Given the description of an element on the screen output the (x, y) to click on. 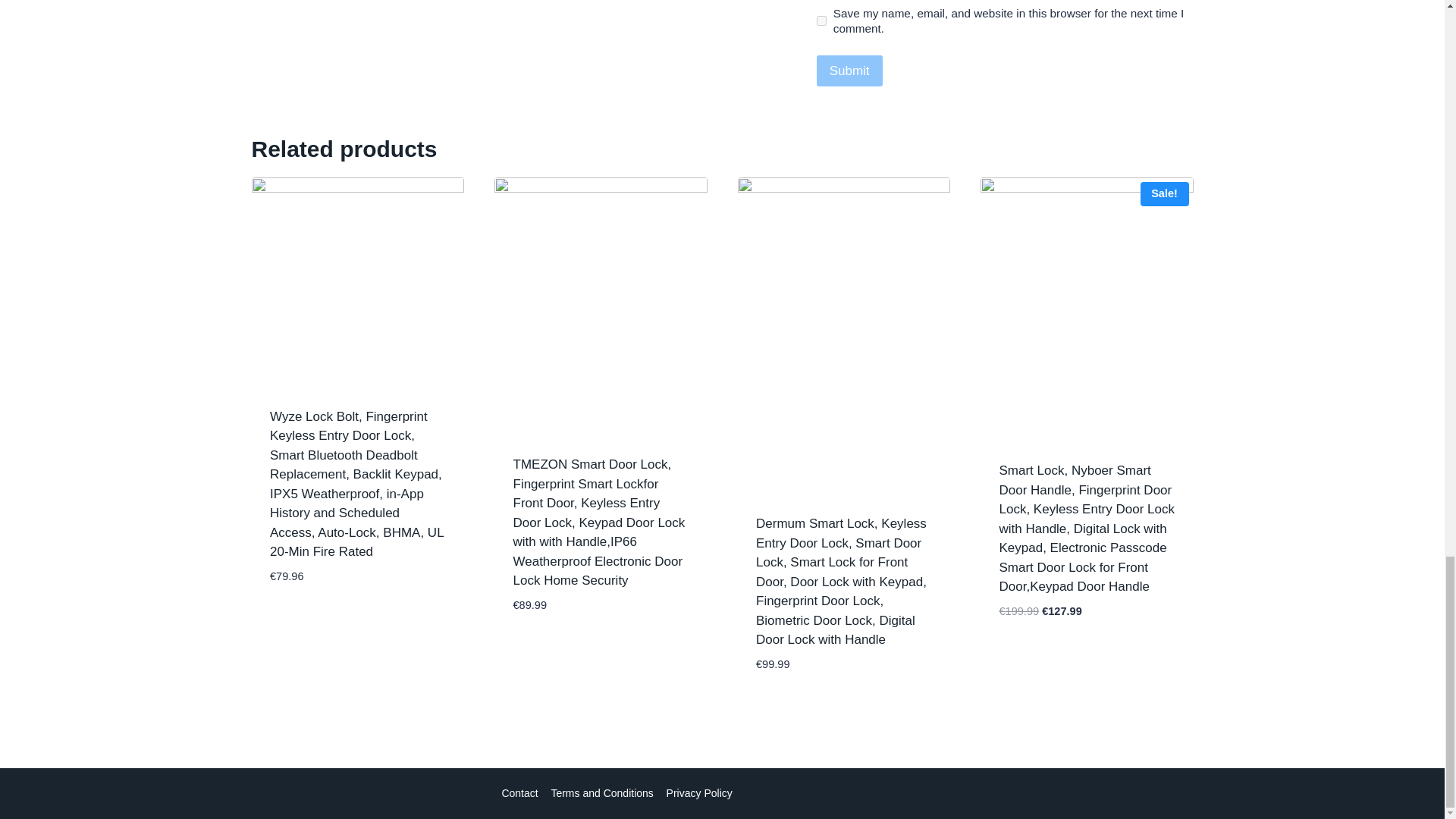
Submit (849, 70)
yes (821, 20)
Submit (849, 70)
